Given the description of an element on the screen output the (x, y) to click on. 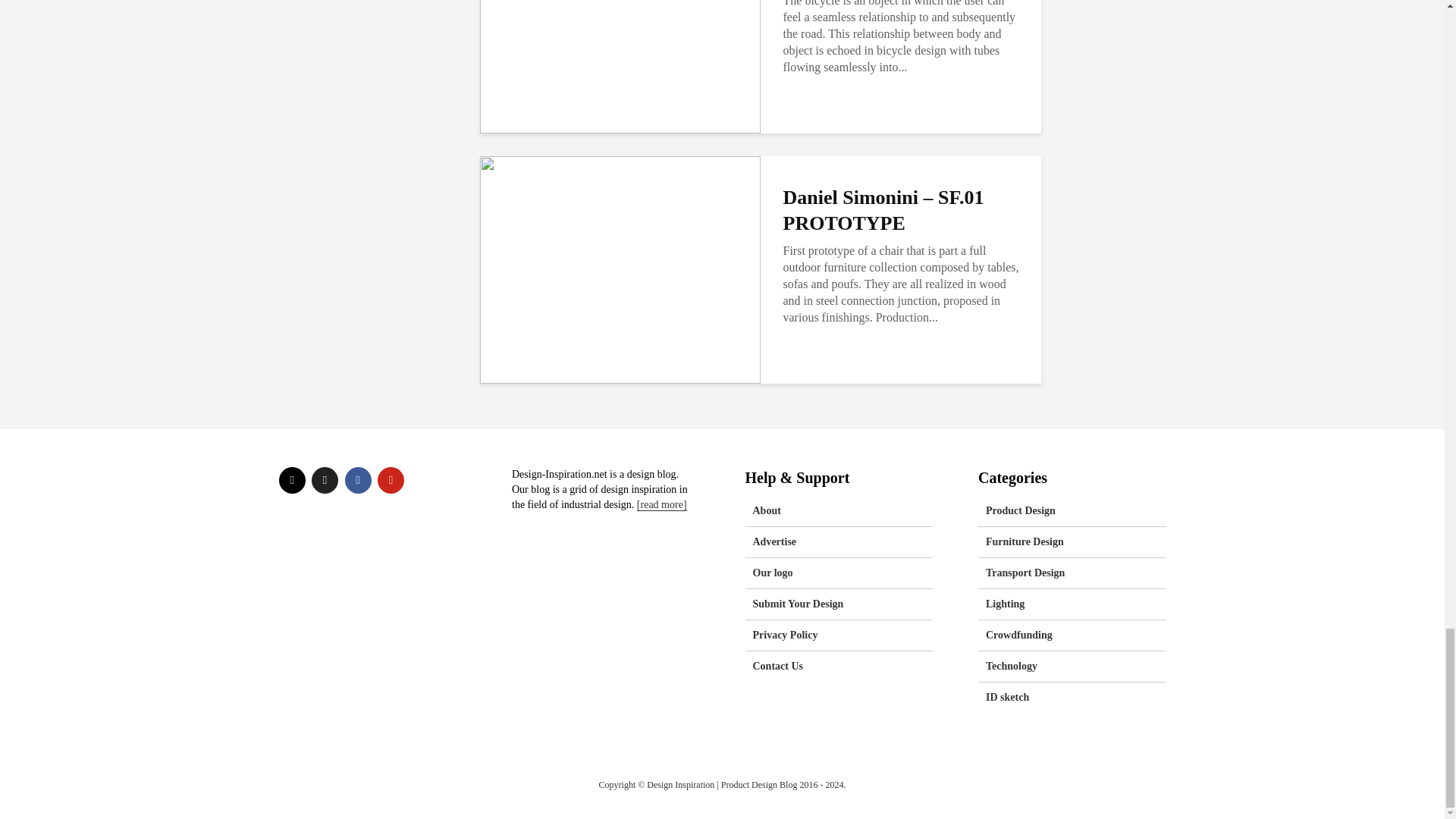
Facebook (357, 479)
Pinterest (390, 479)
Instagram (292, 479)
